Given the description of an element on the screen output the (x, y) to click on. 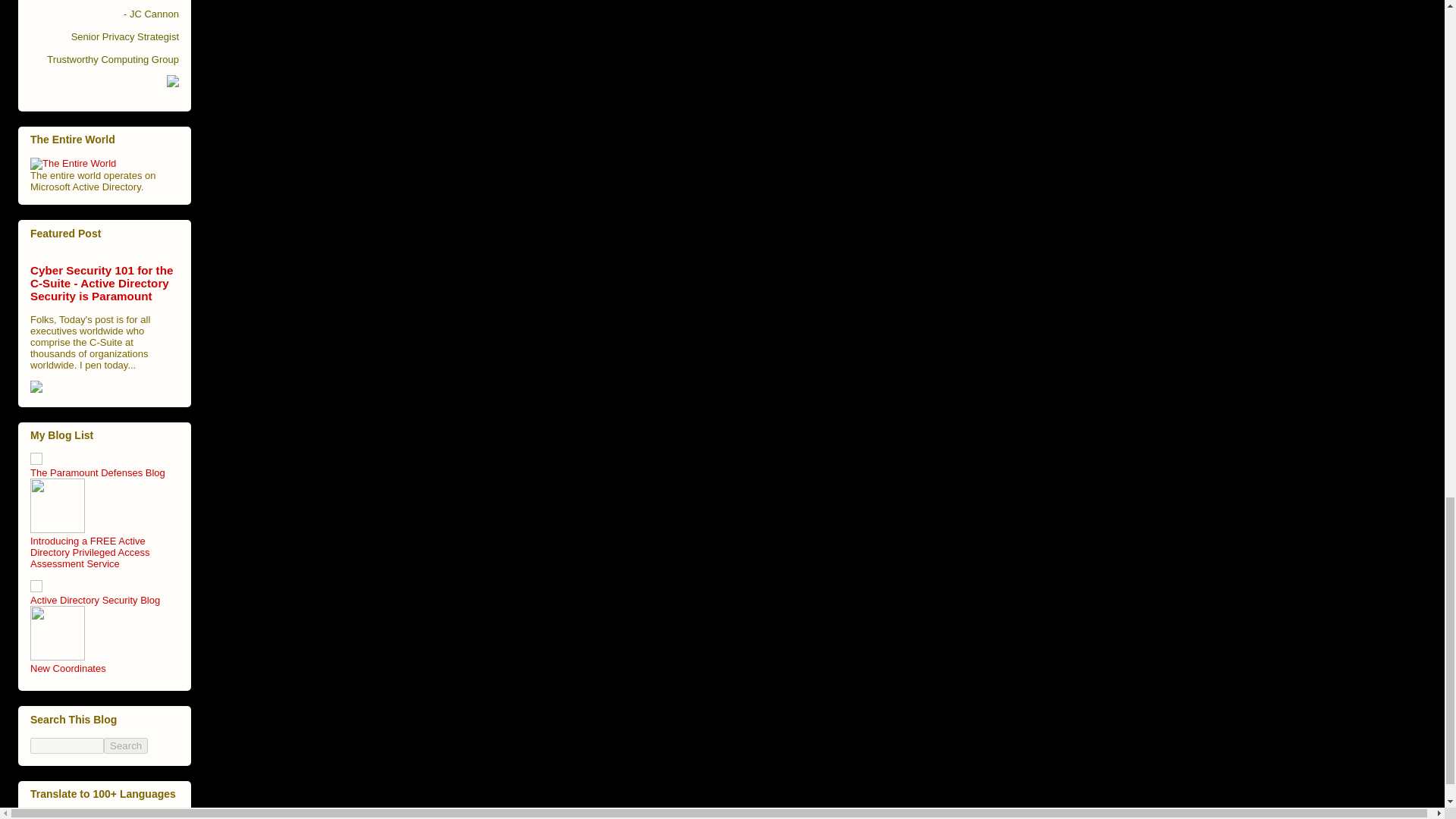
The Paramount Defenses Blog (97, 472)
Active Directory Security Blog (95, 600)
search (66, 745)
search (125, 745)
Search (125, 745)
Search (125, 745)
New Coordinates (68, 668)
